Given the description of an element on the screen output the (x, y) to click on. 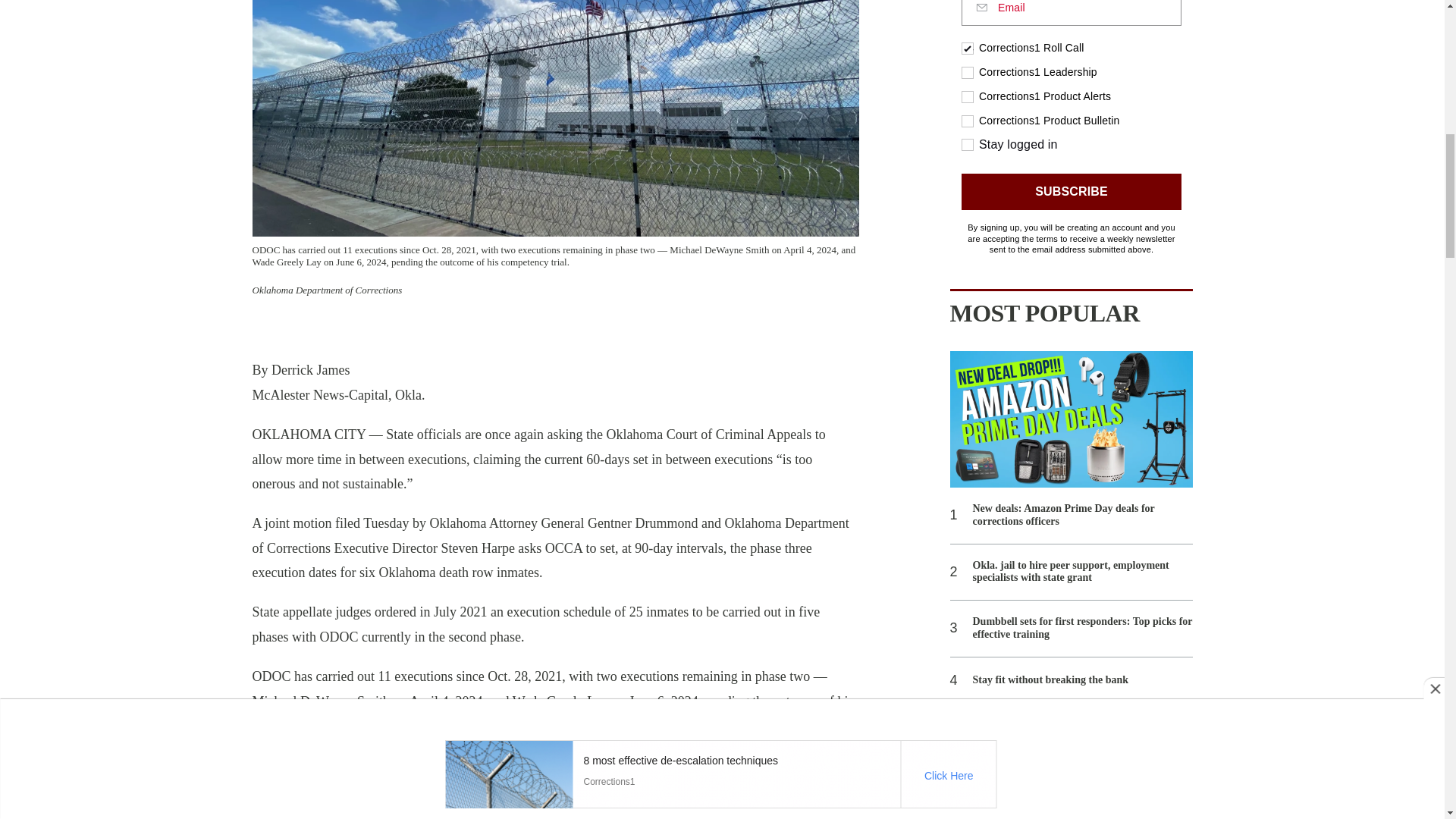
piano-id-nb2Z0 (1070, 128)
